Given the description of an element on the screen output the (x, y) to click on. 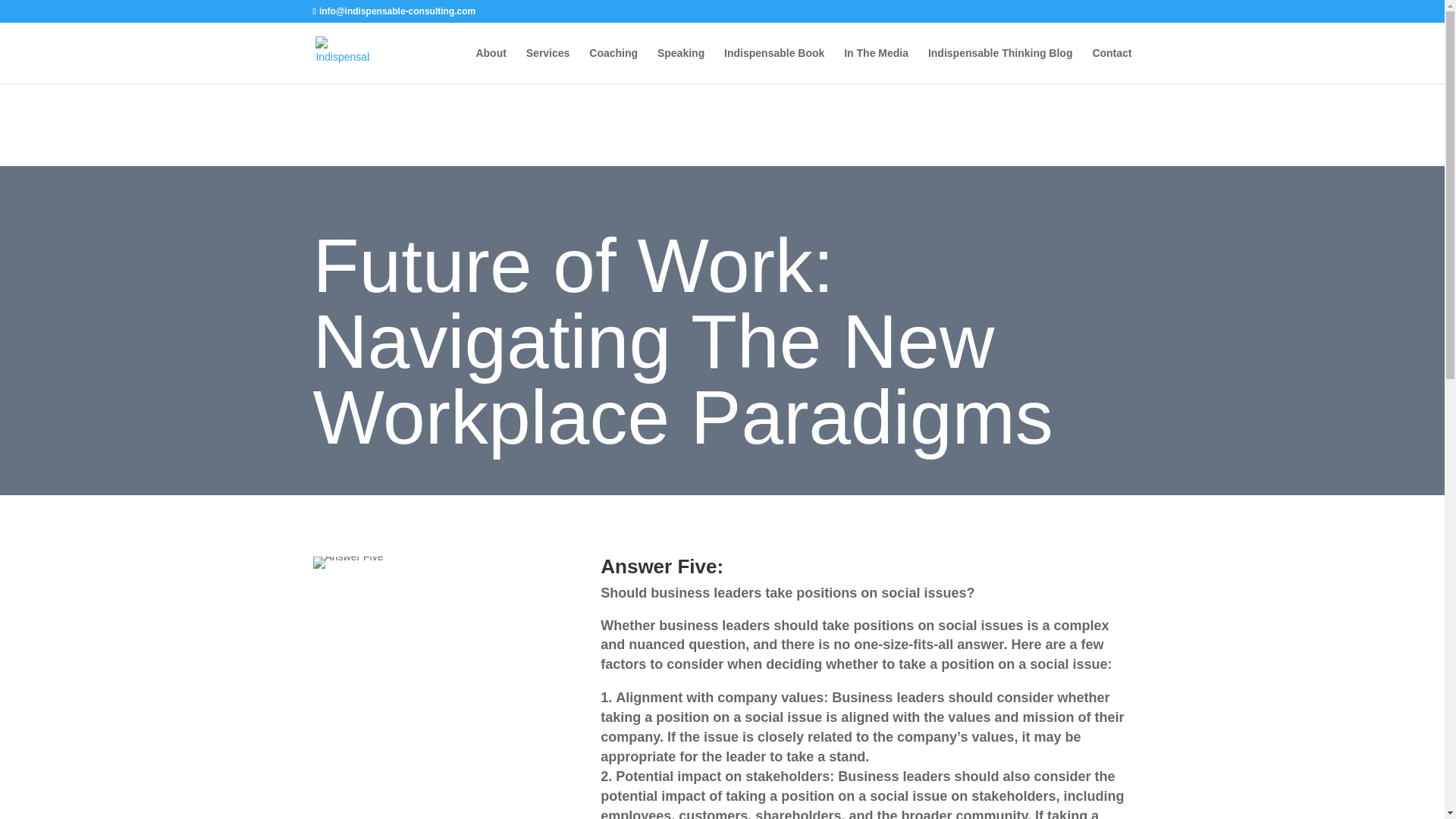
Q-A from Workplace Speech 5-1 (347, 562)
Services (547, 65)
Coaching (613, 65)
Contact (1111, 65)
In The Media (876, 65)
Indispensable Thinking Blog (1000, 65)
Speaking (681, 65)
Indispensable Book (773, 65)
